Given the description of an element on the screen output the (x, y) to click on. 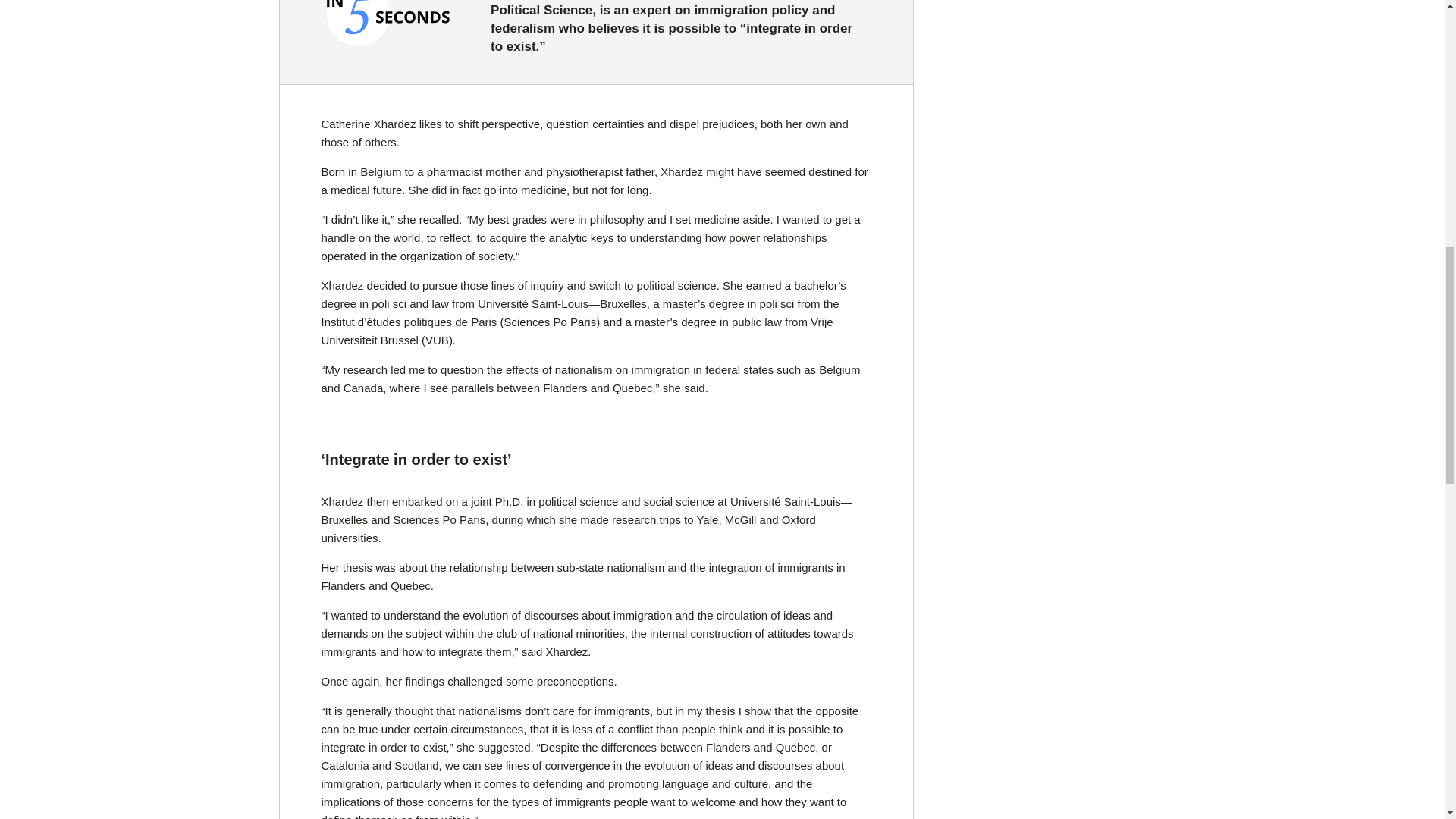
In 5 seconds (390, 24)
